Given the description of an element on the screen output the (x, y) to click on. 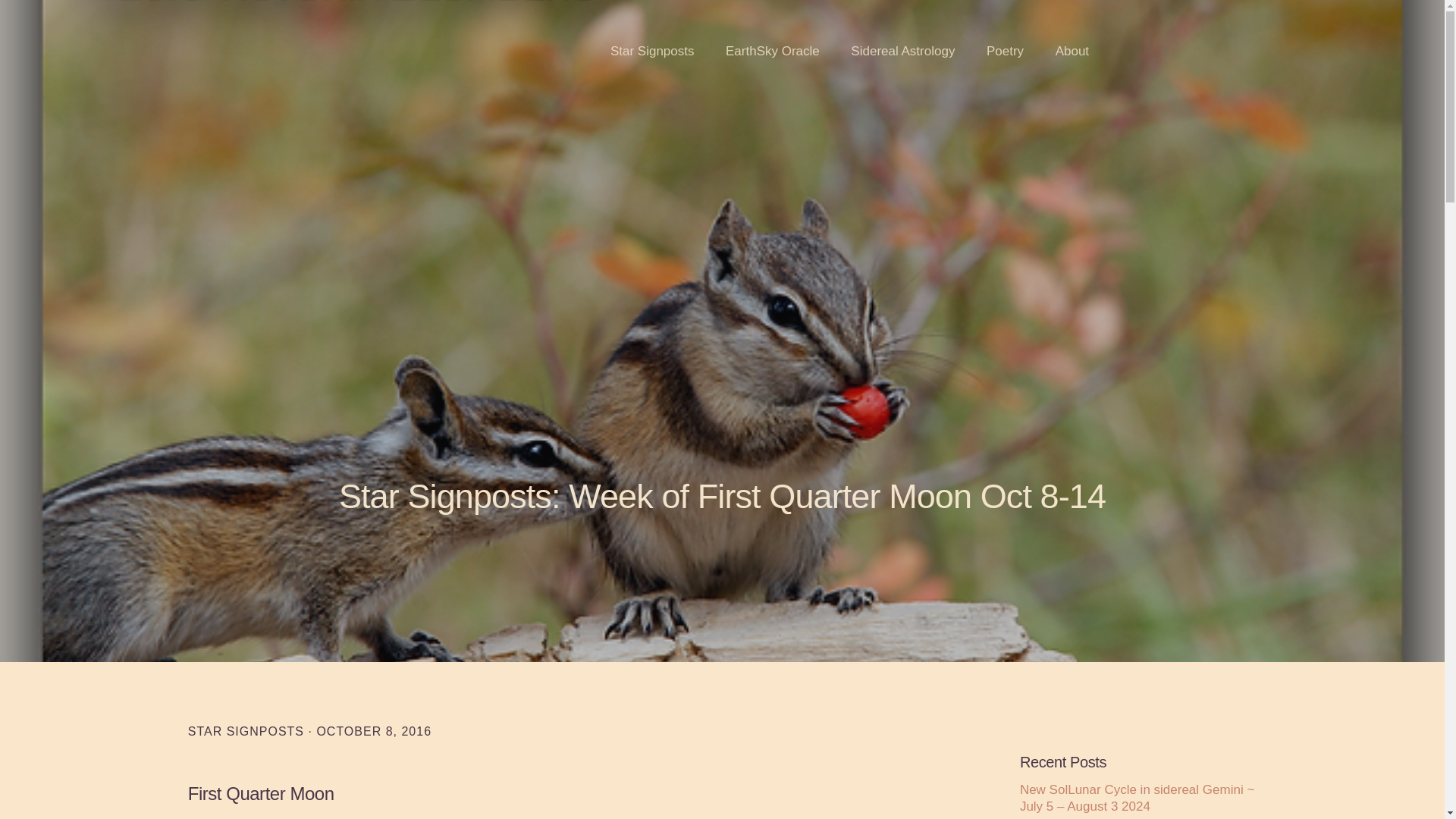
EarthWord SkyWord by Lyn Dalebout (185, 48)
Poetry (1005, 51)
About (1072, 51)
Sidereal Astrology (902, 51)
STAR SIGNPOSTS (245, 730)
Star Signposts (652, 51)
EarthSky Oracle (772, 51)
